Given the description of an element on the screen output the (x, y) to click on. 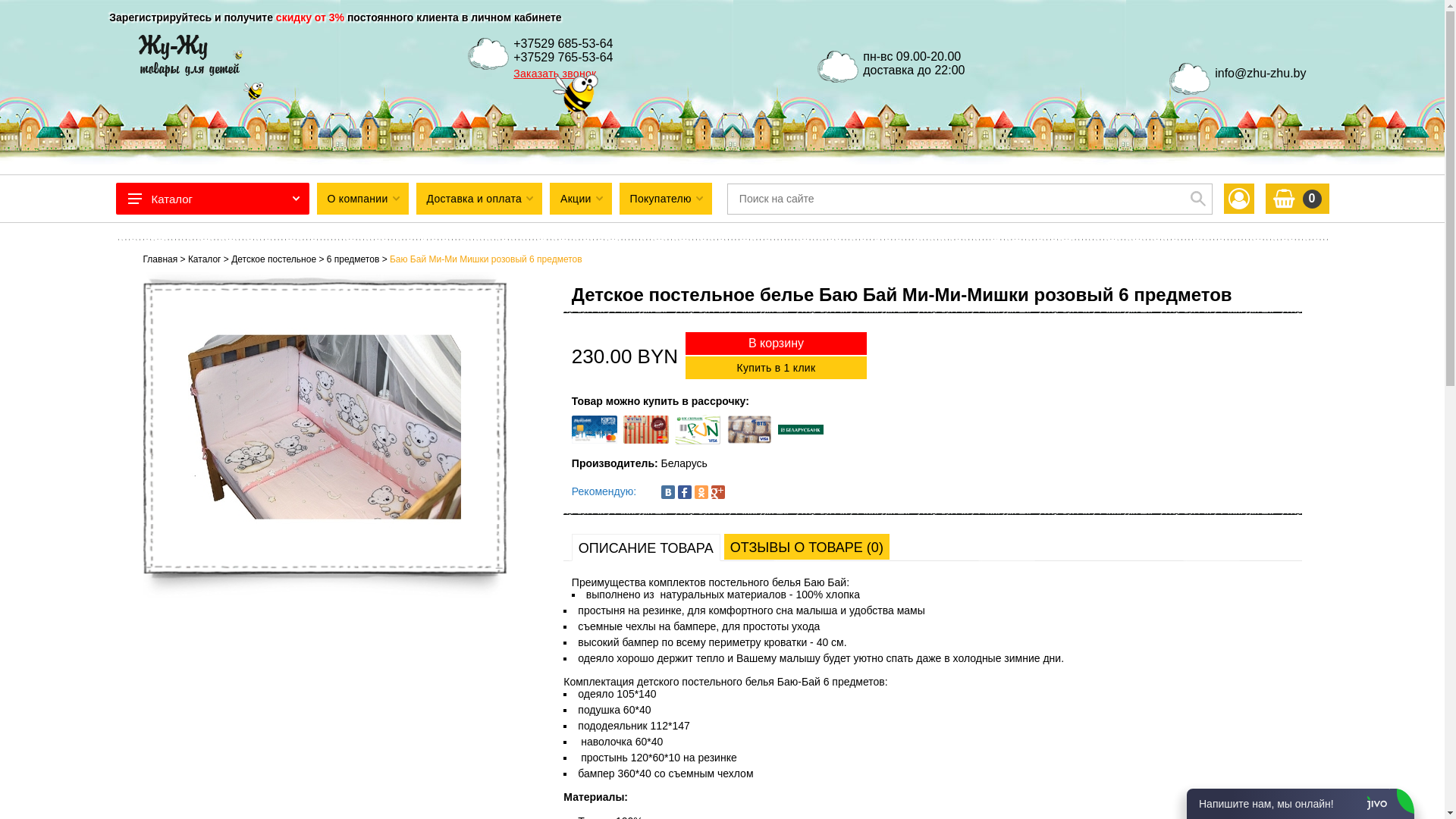
Google Plus Element type: hover (717, 491)
Facebook Element type: hover (684, 491)
+37529 765-53-64 Element type: text (562, 56)
+37529 685-53-64 Element type: text (562, 43)
0 Element type: text (1296, 198)
